Given the description of an element on the screen output the (x, y) to click on. 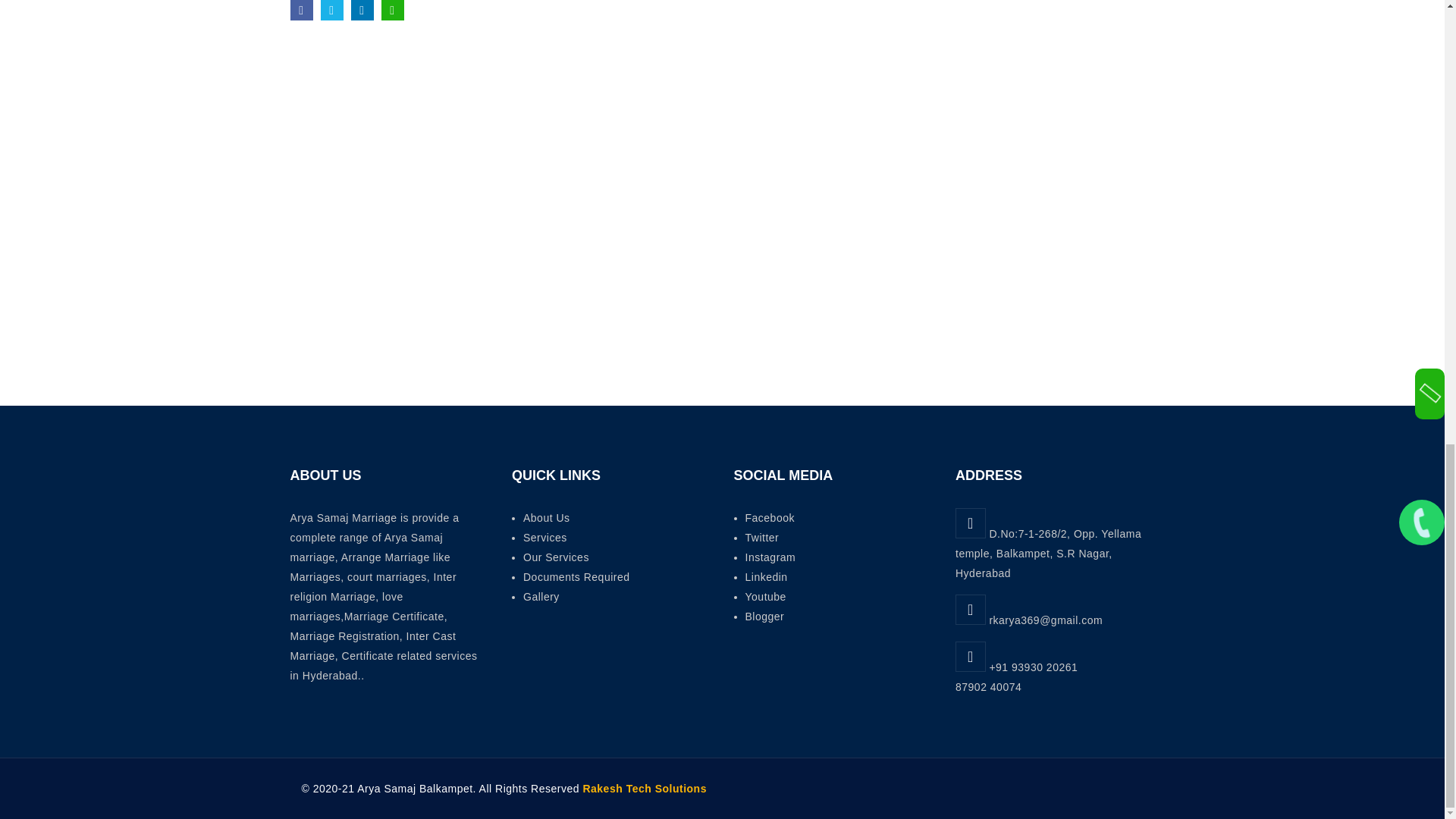
Linkedin (760, 577)
Instagram (764, 557)
Blogger (758, 616)
Facebook (763, 517)
Our Services (550, 557)
Youtube (759, 596)
Arya Samaj Marriages In Hi-tech City Hyderabad (361, 10)
About Us (541, 517)
Documents Required (571, 577)
Arya Samaj Marriages In Hi-tech City Hyderabad (301, 10)
